Given the description of an element on the screen output the (x, y) to click on. 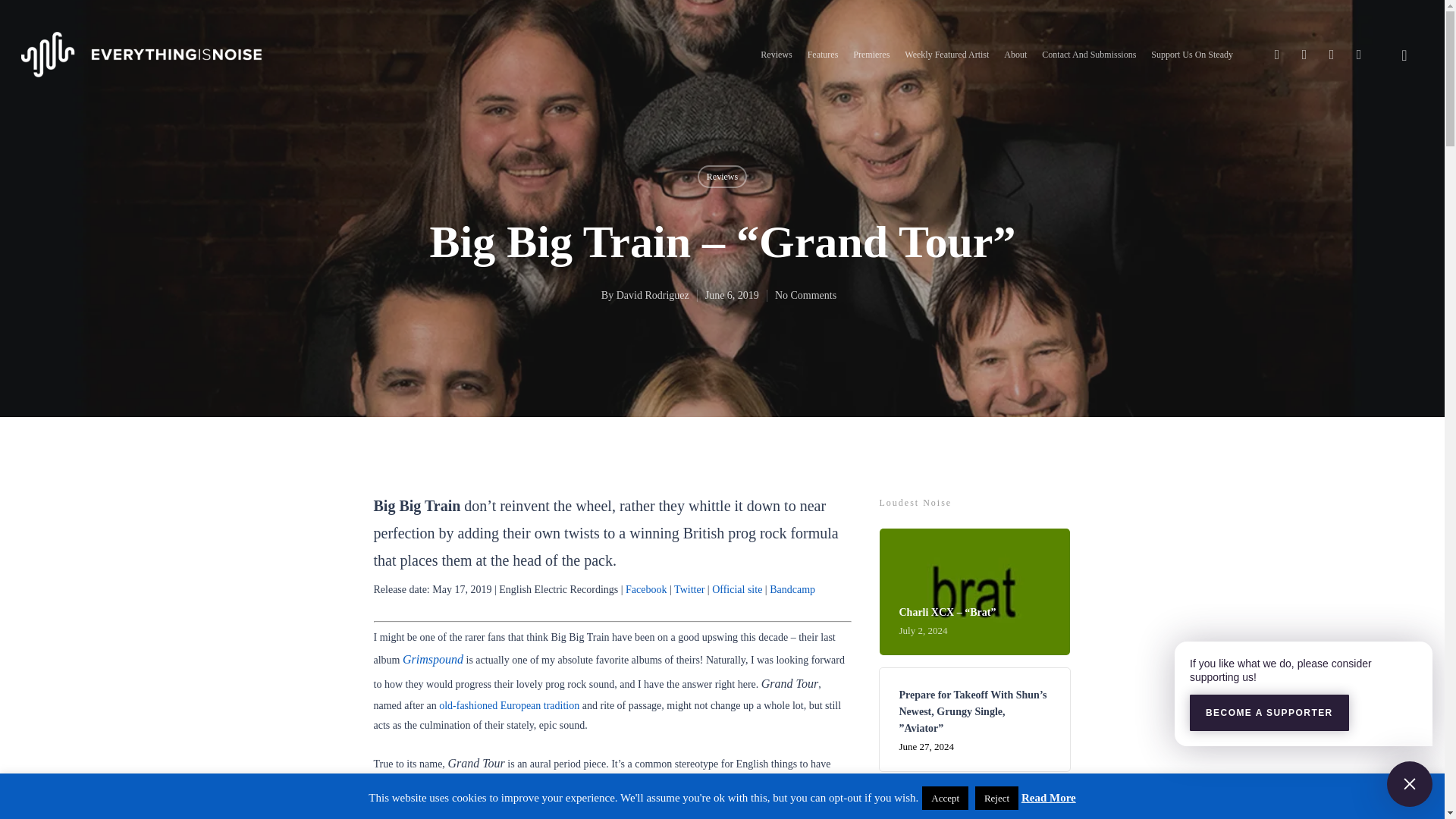
Weekly Featured Artist (946, 54)
Reviews (721, 176)
Premieres (871, 54)
Official site (736, 589)
About (1015, 54)
old-fashioned European tradition (509, 705)
Contact And Submissions (1088, 54)
Posts by David Rodriguez (651, 295)
Grimspound (433, 659)
No Comments (804, 295)
Facebook (646, 589)
Bandcamp (792, 589)
Support Us On Steady (1192, 54)
Features (823, 54)
Reviews (776, 54)
